Given the description of an element on the screen output the (x, y) to click on. 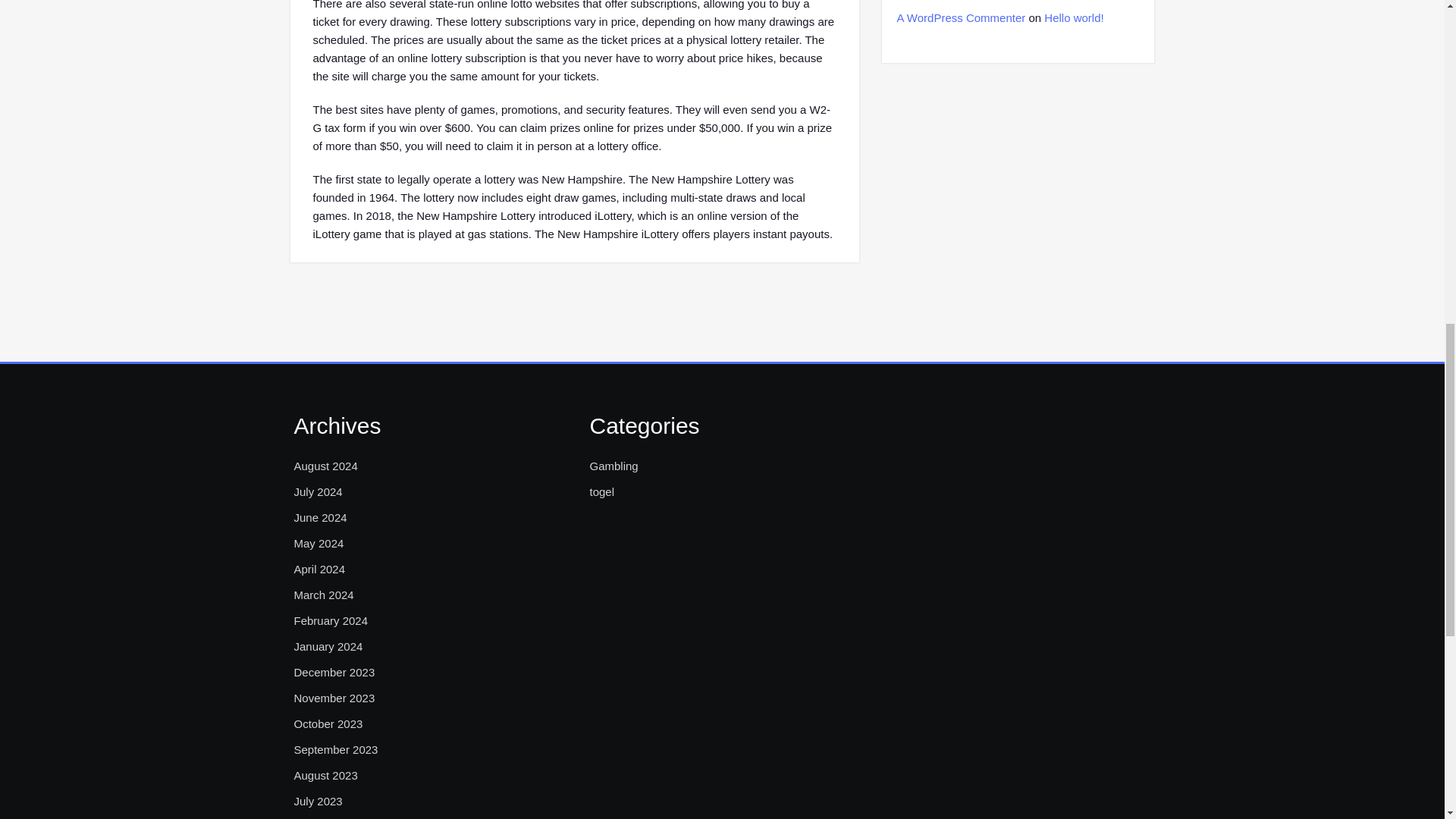
September 2023 (336, 750)
August 2024 (326, 466)
November 2023 (334, 698)
December 2023 (334, 672)
October 2023 (328, 723)
January 2024 (328, 647)
July 2024 (318, 492)
June 2024 (320, 517)
February 2024 (331, 620)
June 2023 (320, 818)
